Given the description of an element on the screen output the (x, y) to click on. 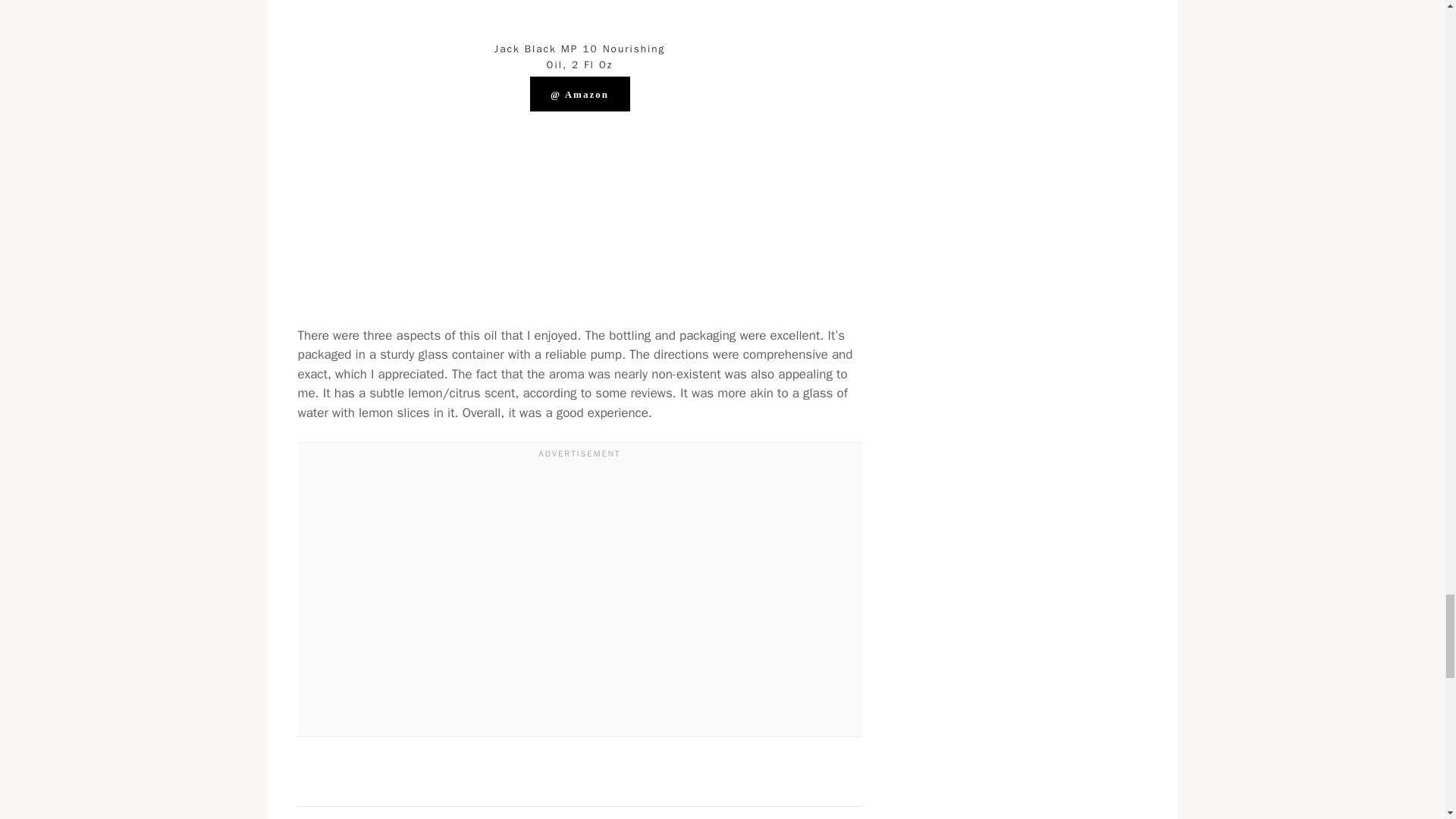
Jack Black MP 10 Nourishing Oil, 2 Fl Oz (579, 55)
